Given the description of an element on the screen output the (x, y) to click on. 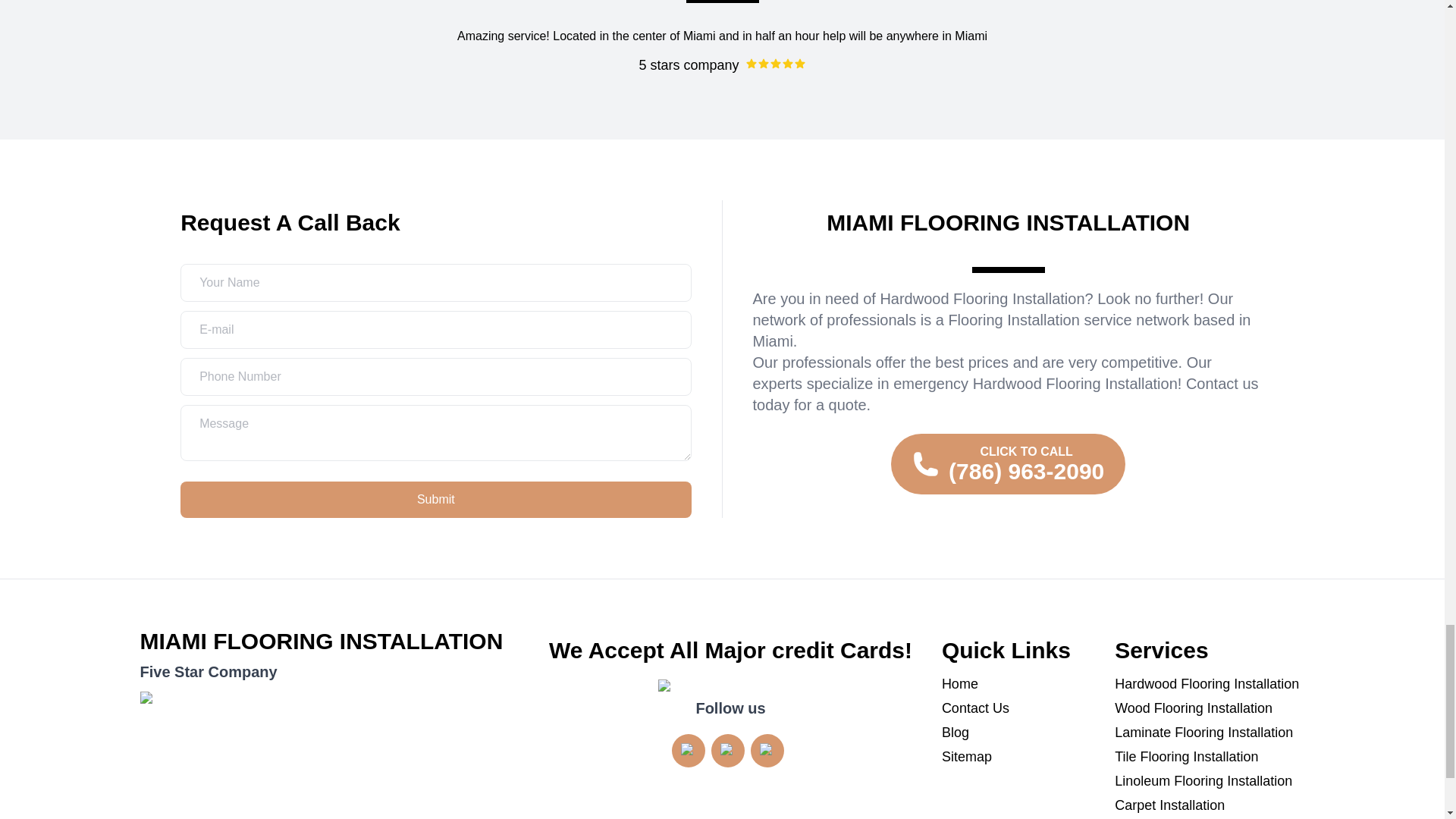
Instagram icon (688, 750)
Instagram (687, 750)
Click to call us (1008, 464)
Bank Card Image (730, 688)
Facebook (767, 750)
twitter logo (727, 750)
Twitter (727, 750)
Star Set Image (329, 747)
Facebook logo (767, 750)
